Given the description of an element on the screen output the (x, y) to click on. 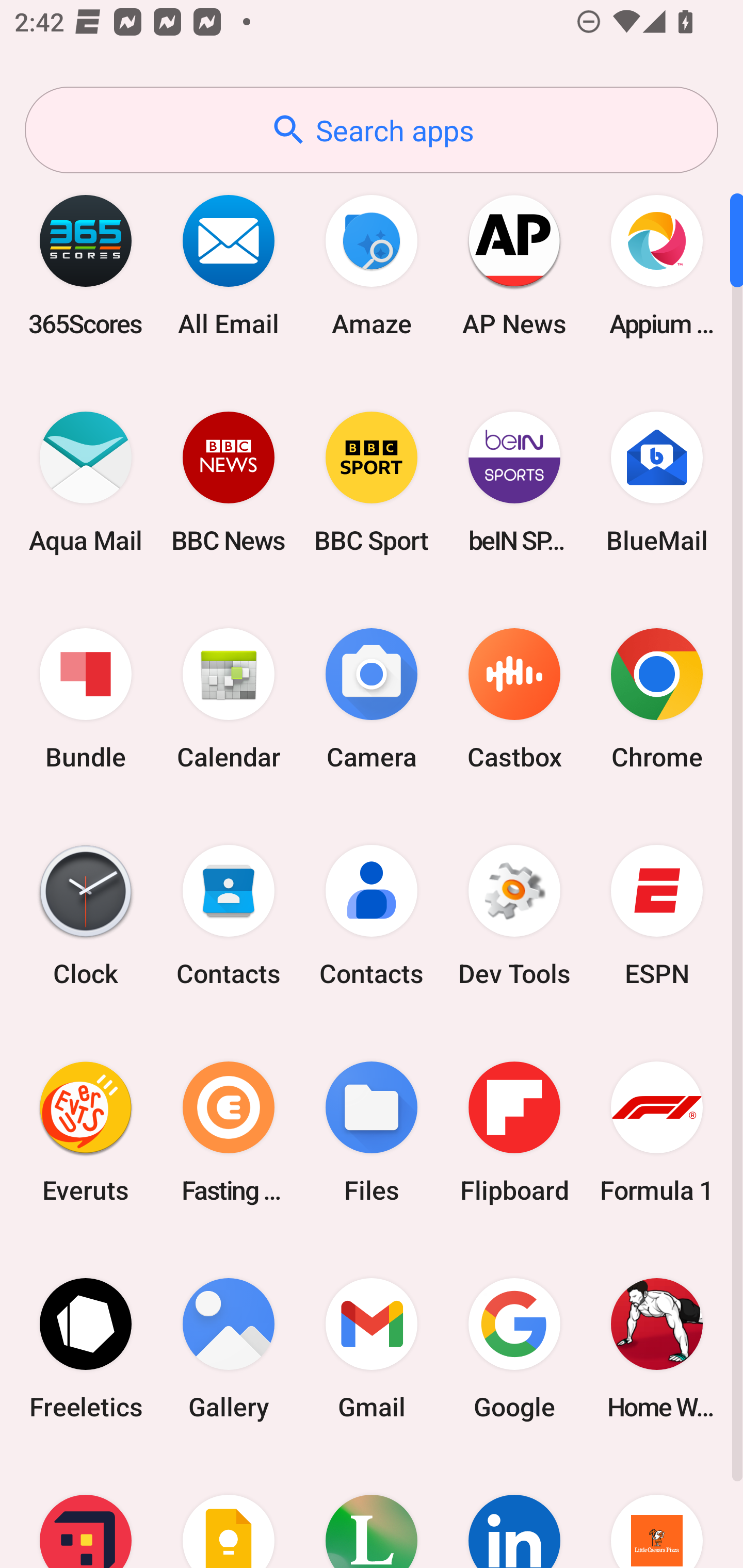
  Search apps (371, 130)
365Scores (85, 264)
All Email (228, 264)
Amaze (371, 264)
AP News (514, 264)
Appium Settings (656, 264)
Aqua Mail (85, 482)
BBC News (228, 482)
BBC Sport (371, 482)
beIN SPORTS (514, 482)
BlueMail (656, 482)
Bundle (85, 699)
Calendar (228, 699)
Camera (371, 699)
Castbox (514, 699)
Chrome (656, 699)
Clock (85, 915)
Contacts (228, 915)
Contacts (371, 915)
Dev Tools (514, 915)
ESPN (656, 915)
Everuts (85, 1131)
Fasting Coach (228, 1131)
Files (371, 1131)
Flipboard (514, 1131)
Formula 1 (656, 1131)
Freeletics (85, 1348)
Gallery (228, 1348)
Gmail (371, 1348)
Google (514, 1348)
Home Workout (656, 1348)
Hotels.com (85, 1512)
Keep Notes (228, 1512)
Lifesum (371, 1512)
LinkedIn (514, 1512)
Little Caesars Pizza (656, 1512)
